Given the description of an element on the screen output the (x, y) to click on. 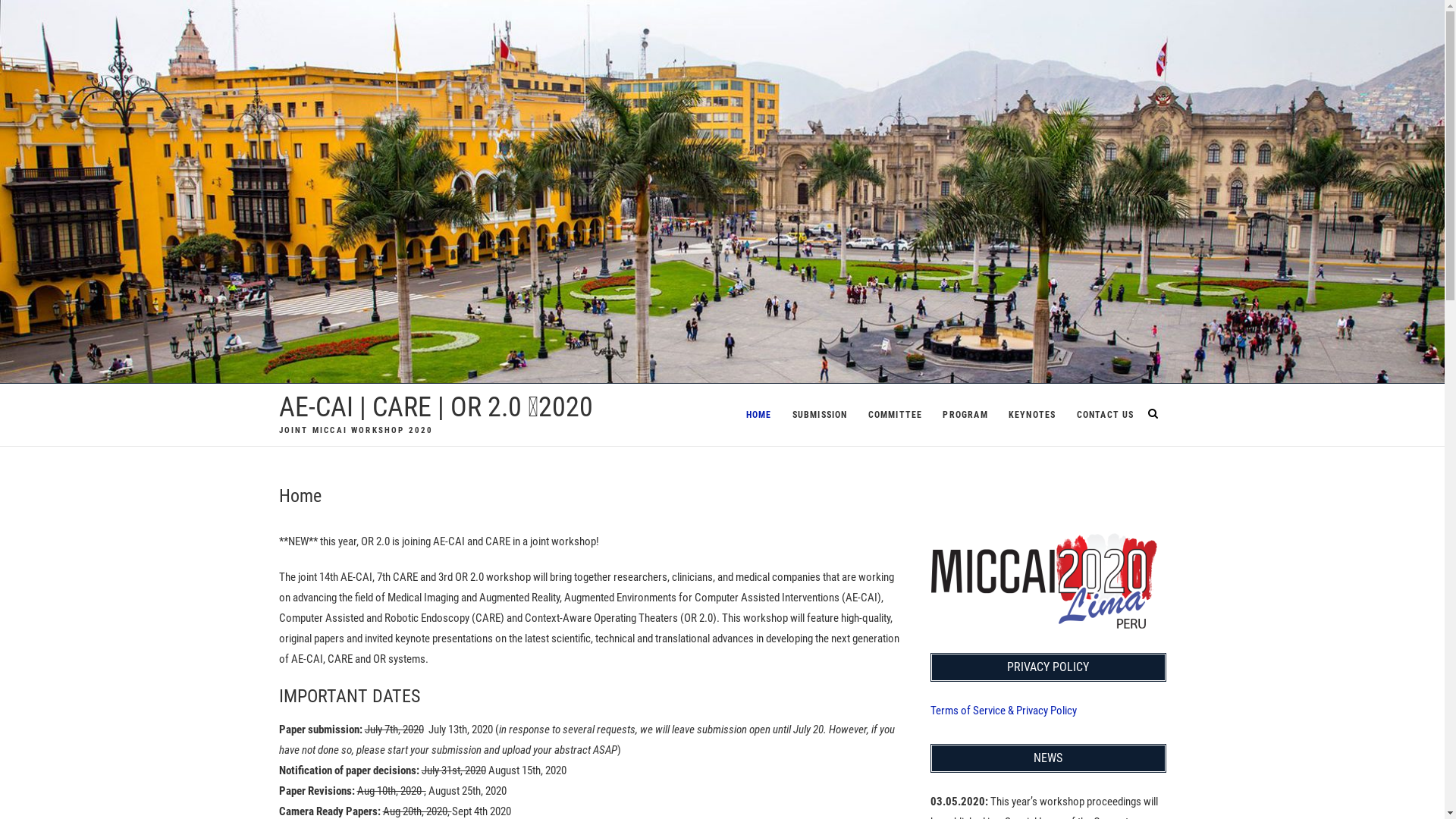
CONTACT US Element type: text (1105, 414)
Terms of Service & Privacy Policy Element type: text (1002, 710)
COMMITTEE Element type: text (895, 414)
SUBMISSION Element type: text (819, 414)
HOME Element type: text (759, 414)
KEYNOTES Element type: text (1032, 414)
PROGRAM Element type: text (964, 414)
